Given the description of an element on the screen output the (x, y) to click on. 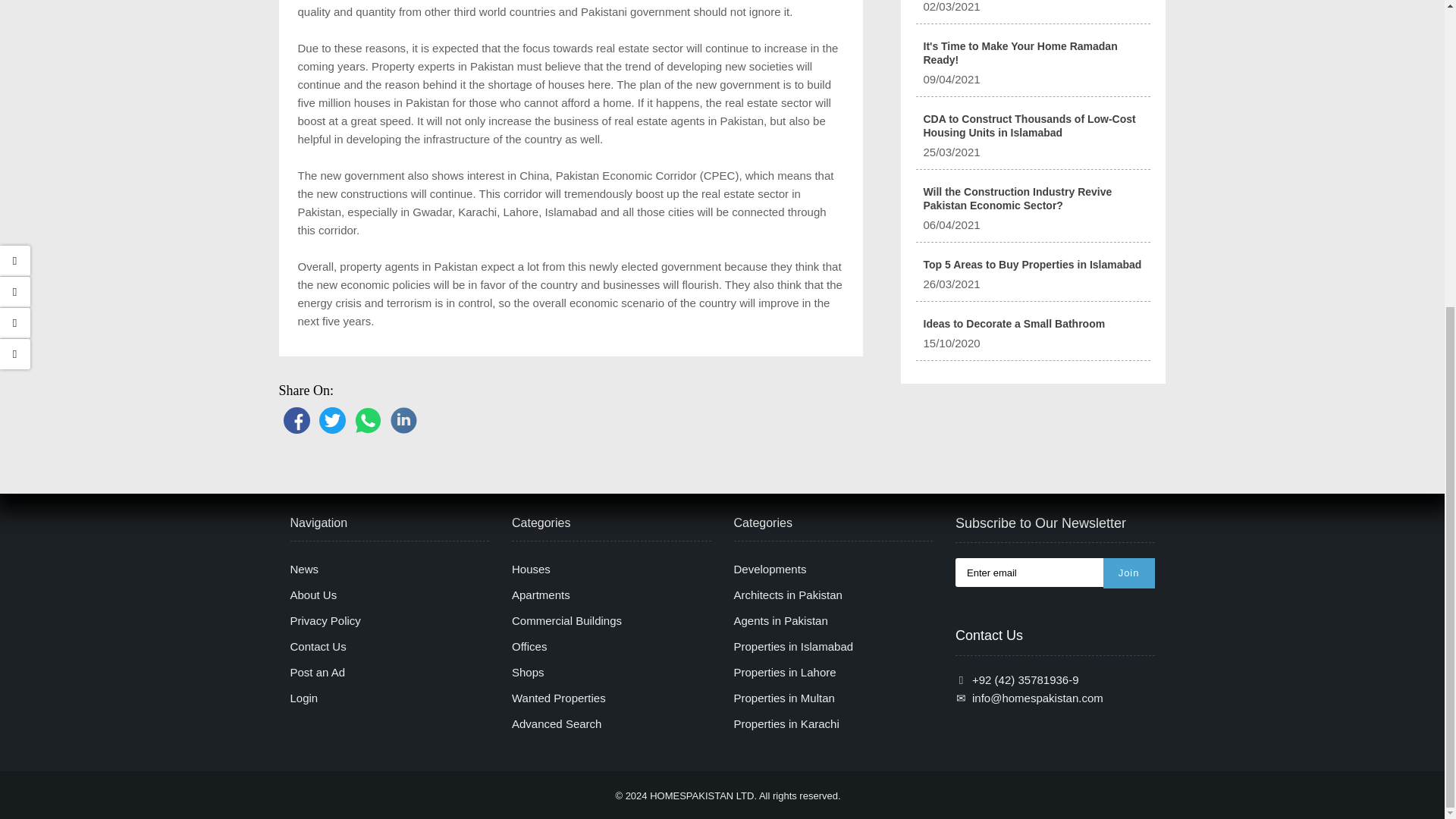
Join (1128, 572)
